Given the description of an element on the screen output the (x, y) to click on. 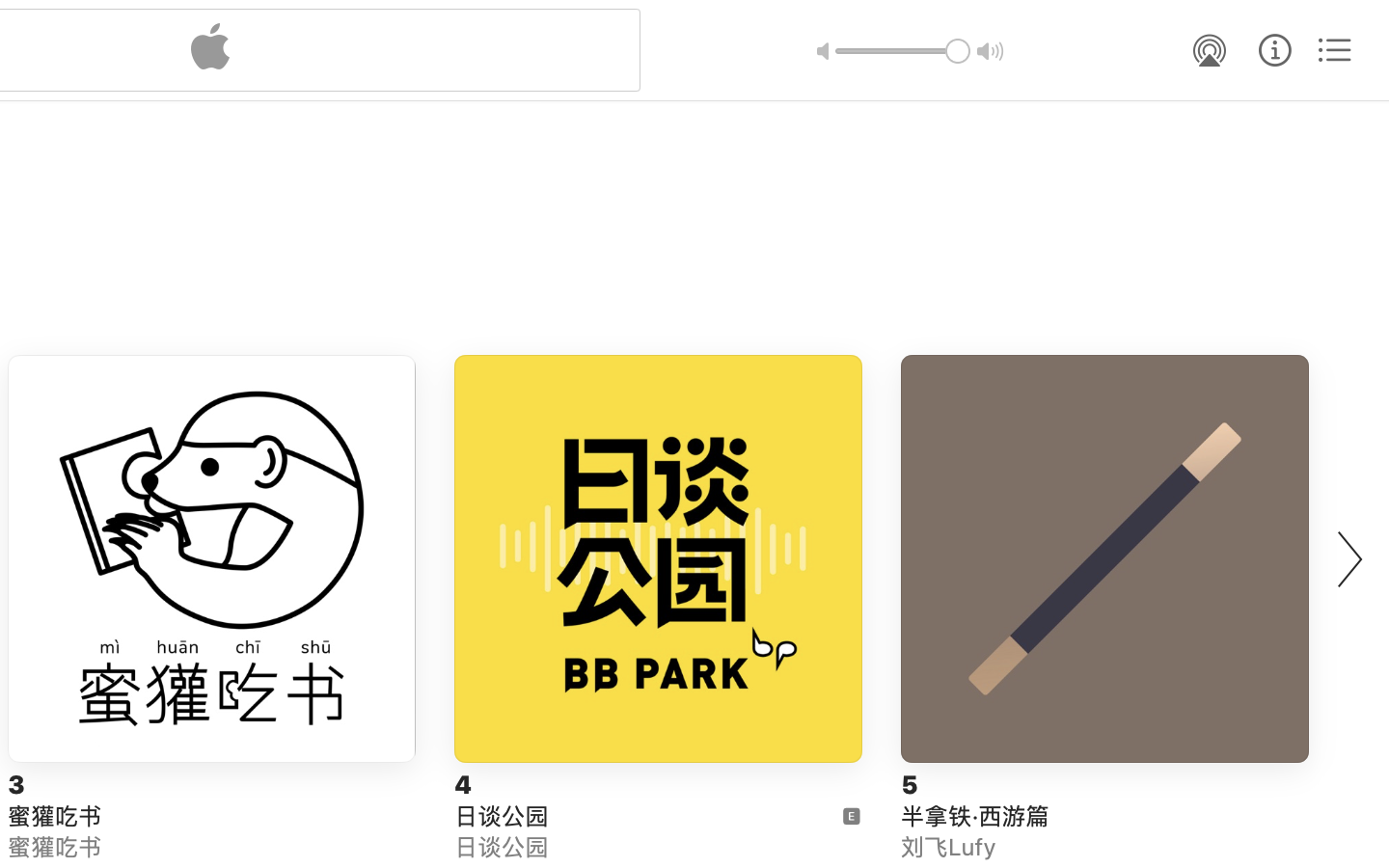
1.0 Element type: AXSlider (902, 50)
